Given the description of an element on the screen output the (x, y) to click on. 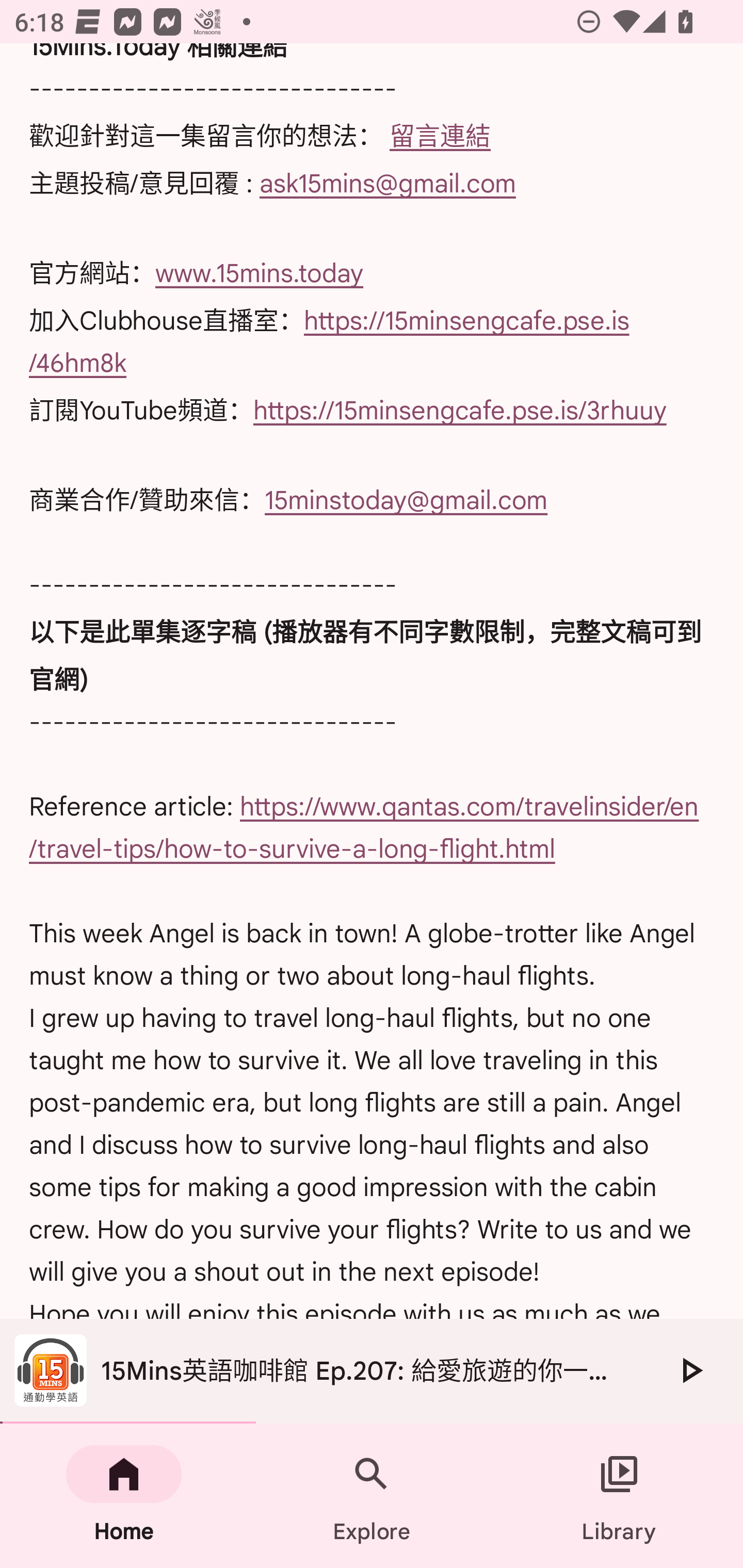
Play (690, 1370)
Explore (371, 1495)
Library (619, 1495)
